Given the description of an element on the screen output the (x, y) to click on. 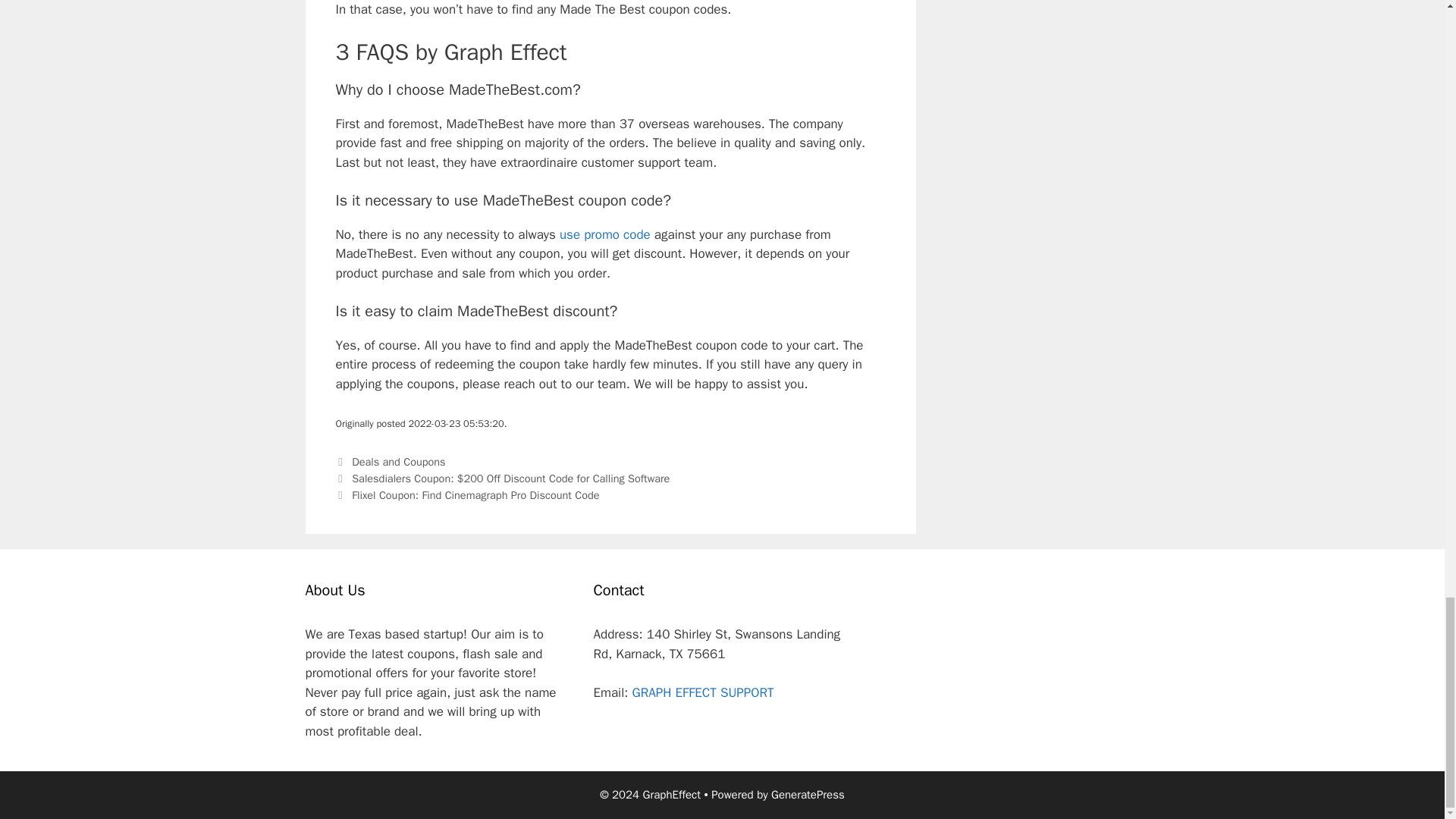
Previous (501, 478)
Next (466, 495)
use promo code (604, 234)
GeneratePress (807, 794)
GRAPH EFFECT SUPPORT (702, 692)
Flixel Coupon: Find Cinemagraph Pro Discount Code (475, 495)
Deals and Coupons (398, 461)
